Given the description of an element on the screen output the (x, y) to click on. 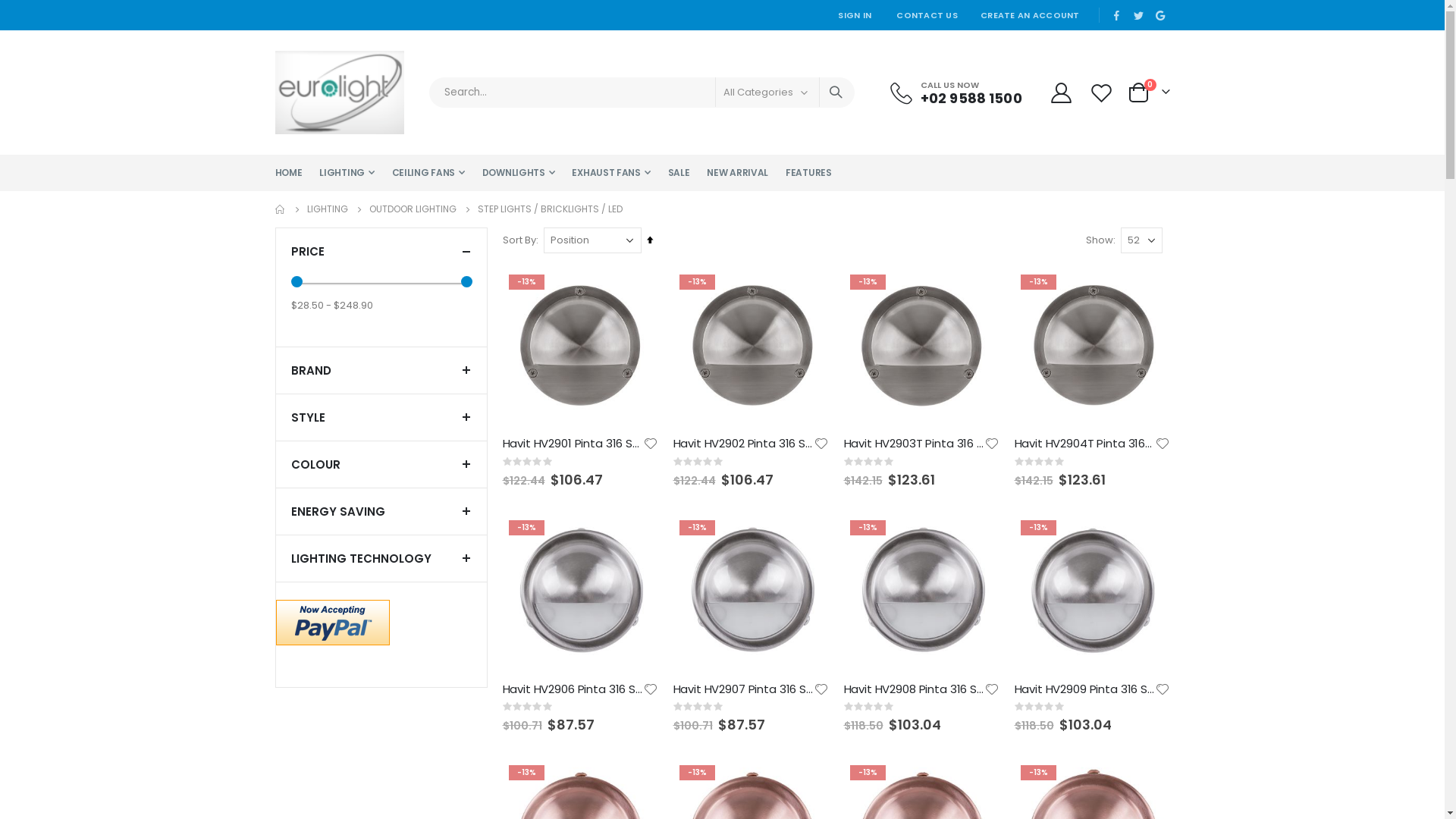
Cart
0 Element type: text (1148, 92)
Facebook Element type: hover (1116, 15)
Titanium 4
items Element type: text (338, 745)
SALE Element type: text (679, 172)
Havit 150
items Element type: text (333, 347)
Add to Wish List Element type: hover (991, 688)
LIGHTING Element type: text (346, 172)
FEATURES Element type: text (808, 172)
Black 51
items Element type: text (331, 551)
Brass 6
items Element type: text (330, 575)
Twitter Element type: hover (1138, 15)
Modern 153
items Element type: text (340, 449)
Add to Wish List Element type: hover (650, 688)
Martec 3
items Element type: text (334, 372)
CONTACT US Element type: text (926, 15)
Additional Options Element type: hover (332, 621)
LIGHTING Element type: text (326, 208)
Add to Wish List Element type: hover (820, 443)
NEW ARRIVAL Element type: text (737, 172)
Add to Wish List Element type: hover (991, 443)
EXHAUST FANS Element type: text (610, 172)
Set Descending Direction Element type: text (649, 240)
Brushed Nickel 3
items Element type: text (353, 623)
Add to Wish List Element type: hover (820, 688)
Google Element type: hover (1160, 15)
Add to Wish List Element type: hover (650, 443)
SIGN IN Element type: text (854, 15)
CREATE AN ACCOUNT Element type: text (1030, 15)
HOME Element type: text (287, 172)
Search Element type: hover (835, 92)
OUTDOOR LIGHTING Element type: text (411, 208)
Bronze 2
items Element type: text (334, 599)
Stainless Steel 316 2
items Element type: text (361, 721)
Add to Wish List Element type: hover (1161, 688)
CEILING FANS Element type: text (428, 172)
My Account Element type: hover (1061, 92)
Copper 8
items Element type: text (336, 648)
White 36
items Element type: text (334, 769)
Antique Brass 8
items Element type: text (350, 526)
DOWNLIGHTS Element type: text (518, 172)
Add to Wish List Element type: hover (1161, 443)
Additional Options Element type: hover (332, 622)
Silver 3
items Element type: text (330, 672)
Wishlist Element type: hover (1102, 92)
HOME Element type: text (279, 209)
Stainless Steel 37
items Element type: text (355, 696)
